Given the description of an element on the screen output the (x, y) to click on. 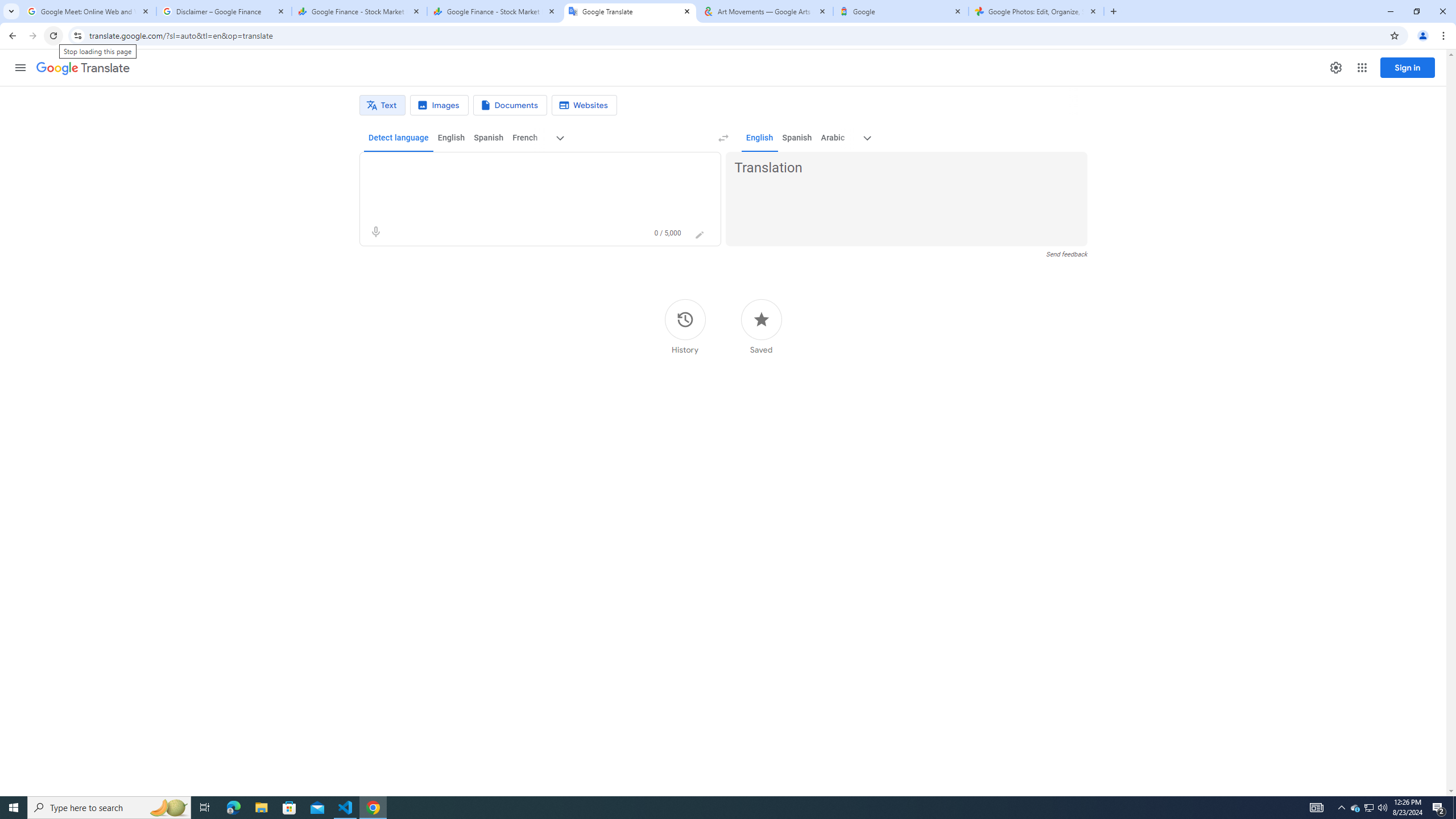
Swap languages (Ctrl+Shift+S) (723, 137)
Spanish (796, 137)
Google (901, 11)
